Given the description of an element on the screen output the (x, y) to click on. 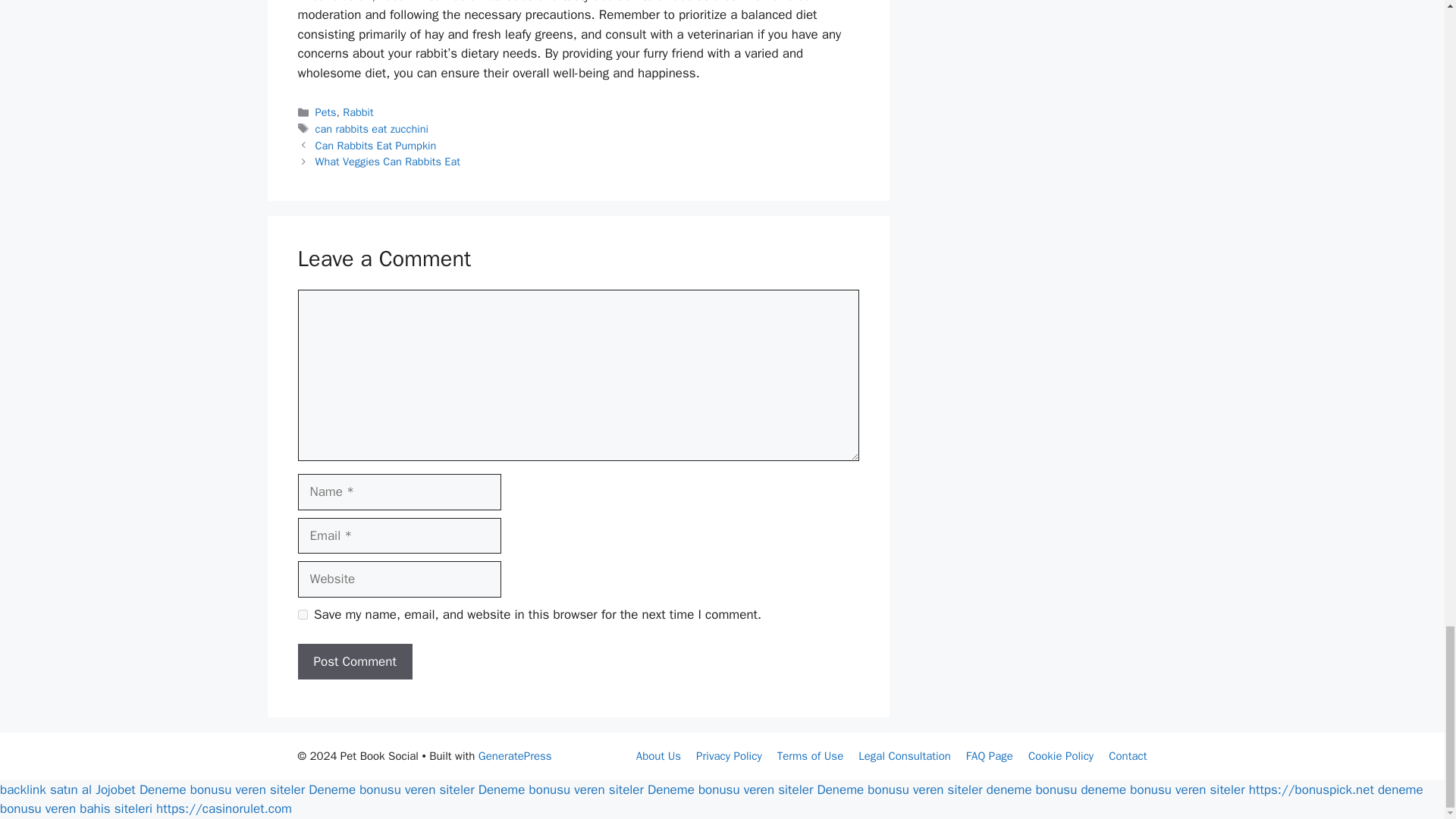
Rabbit (357, 111)
Deneme bonusu veren siteler (221, 789)
Post Comment (354, 661)
yes (302, 614)
What Veggies Can Rabbits Eat (387, 161)
Pets (325, 111)
Post Comment (354, 661)
Jojobet (115, 789)
can rabbits eat zucchini (371, 128)
Can Rabbits Eat Pumpkin (375, 145)
